Given the description of an element on the screen output the (x, y) to click on. 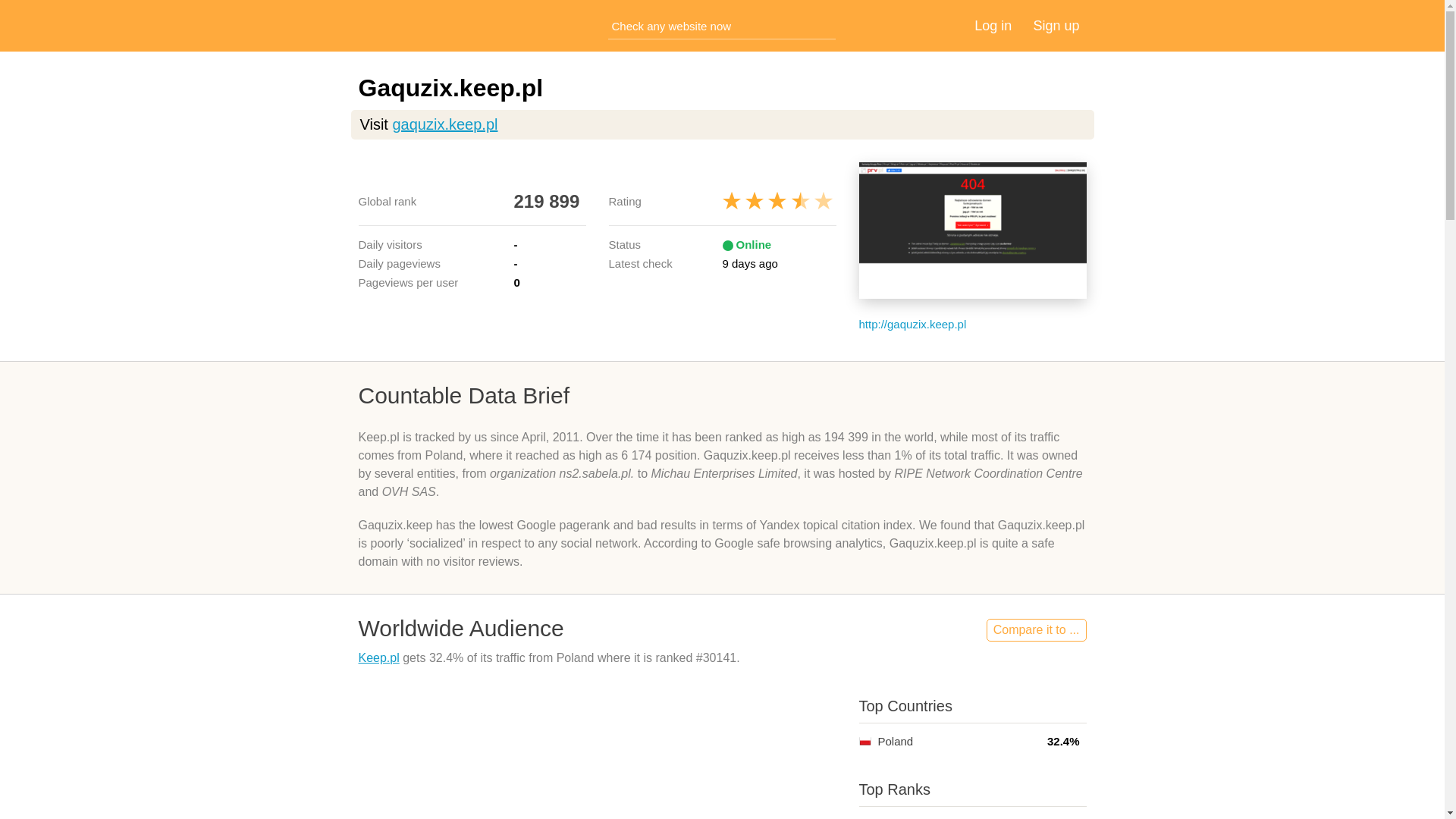
gaquzix.keep.pl (444, 124)
Sign up (1056, 25)
Poland (864, 741)
Keep.pl (378, 657)
Compare it to ... (1036, 630)
Gaquzix.keep.pl thumbnail (972, 230)
Log in (992, 25)
